Given the description of an element on the screen output the (x, y) to click on. 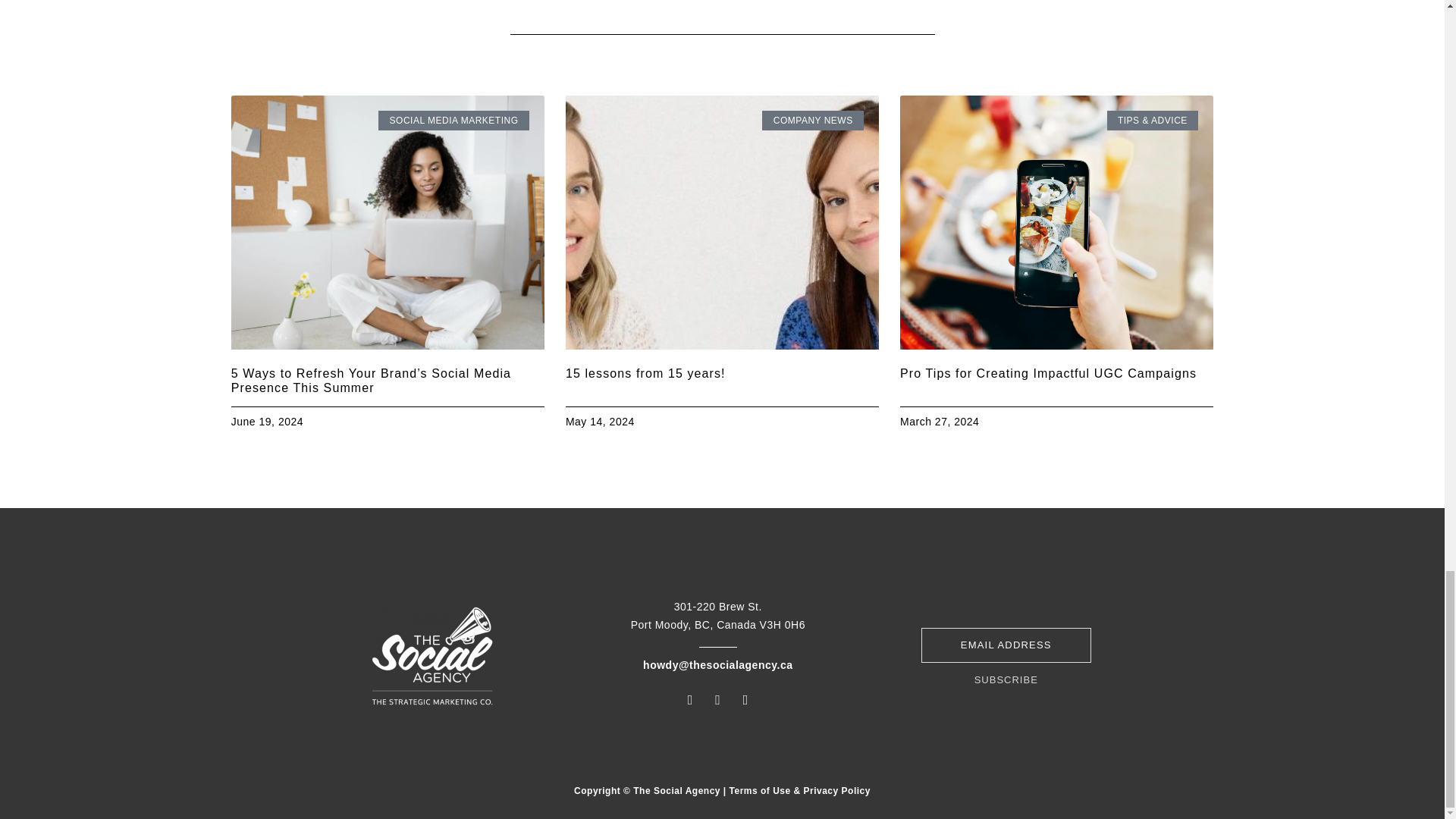
Pro Tips for Creating Impactful UGC Campaigns (1047, 373)
15 lessons from 15 years! (645, 373)
SUBSCRIBE (1005, 678)
